Given the description of an element on the screen output the (x, y) to click on. 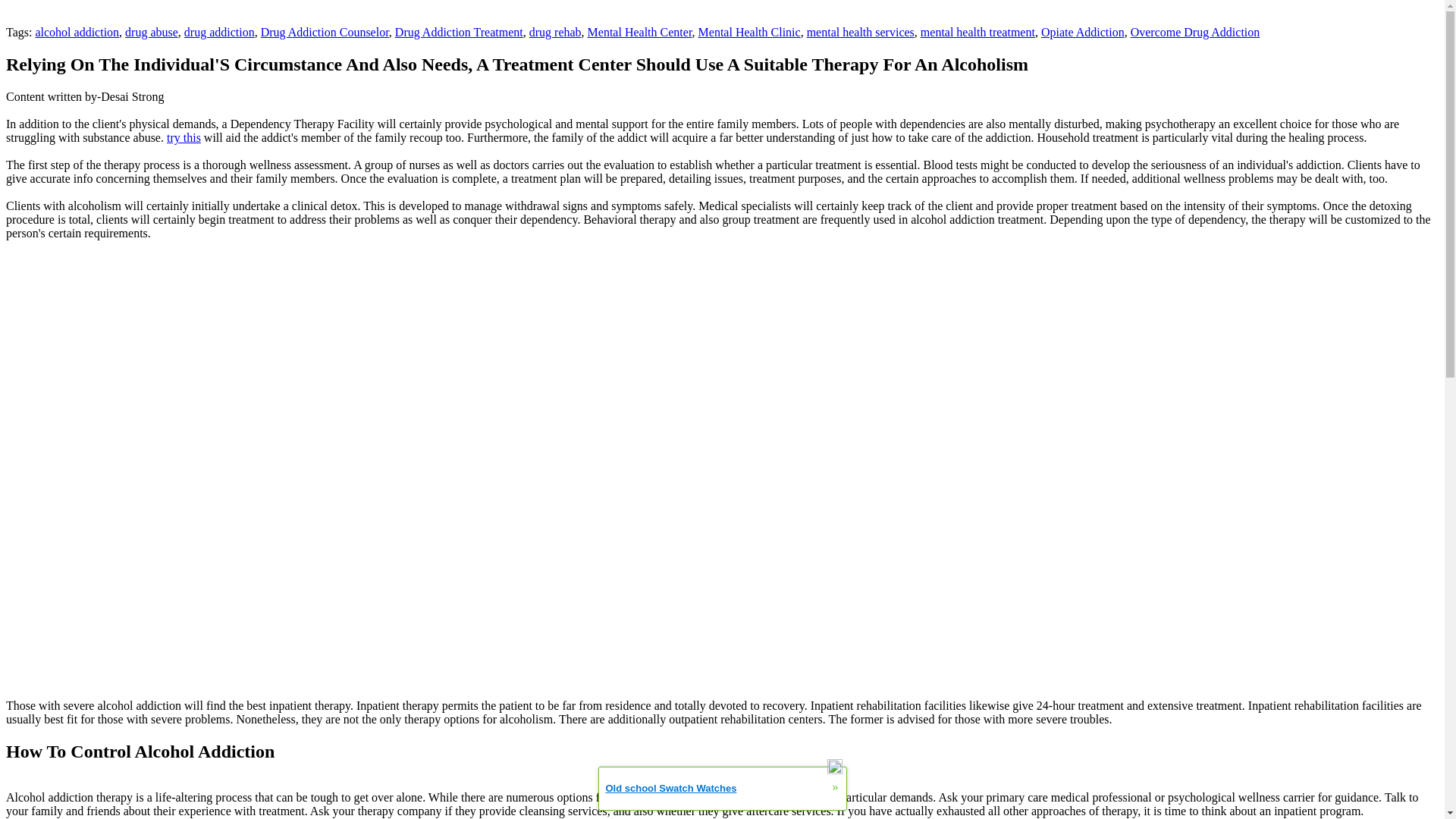
Opiate Addiction (1082, 31)
mental health services (860, 31)
Mental Health Center (640, 31)
mental health treatment (977, 31)
try this (183, 137)
Mental Health Clinic (749, 31)
Drug Addiction Counselor (324, 31)
alcohol addiction (76, 31)
Drug Addiction Treatment (458, 31)
drug rehab (554, 31)
drug abuse (151, 31)
Overcome Drug Addiction (1195, 31)
drug addiction (219, 31)
